Given the description of an element on the screen output the (x, y) to click on. 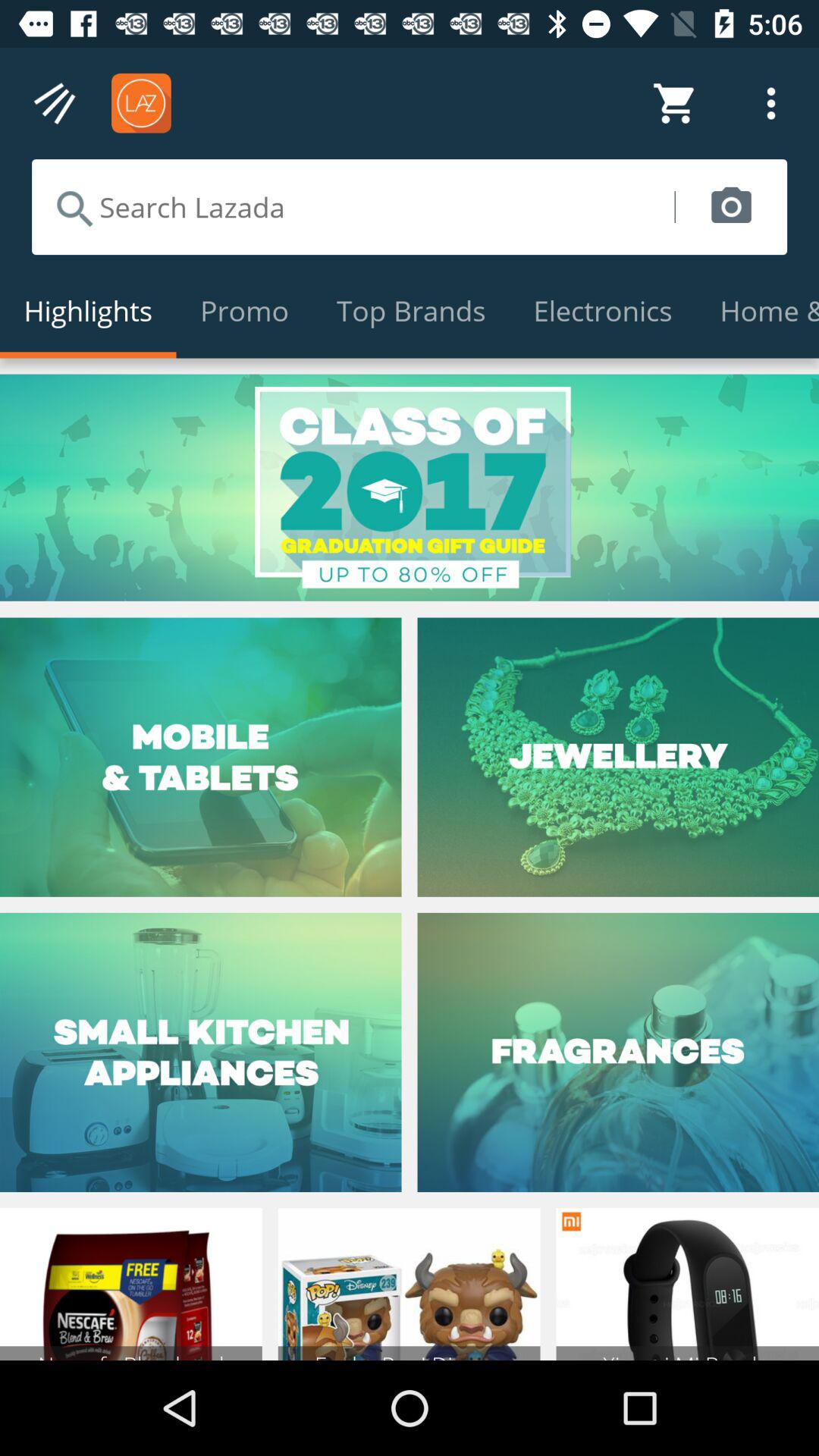
activate the menu (55, 103)
